Given the description of an element on the screen output the (x, y) to click on. 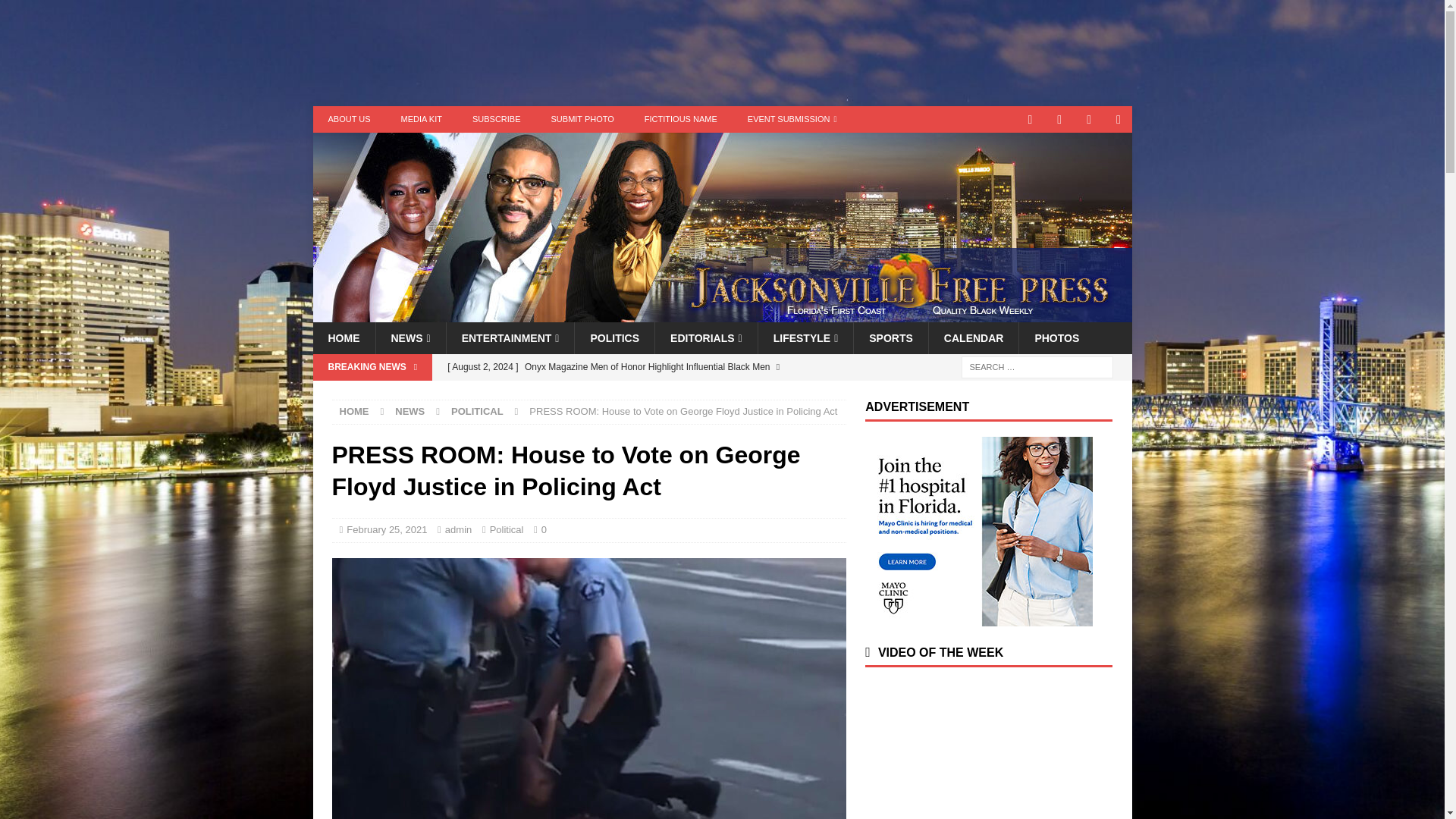
contact (1029, 119)
Onyx Magazine Men of Honor Highlight Influential Black Men (640, 379)
Facebook (1088, 119)
MEDIA KIT (421, 119)
SUBMIT PHOTO (581, 119)
FICTITIOUS NAME (680, 119)
Free Press of Jacksonville (722, 313)
twitter (1059, 119)
EVENT SUBMISSION (791, 119)
SUBSCRIBE (496, 119)
ABOUT US (349, 119)
rss (1118, 119)
